Given the description of an element on the screen output the (x, y) to click on. 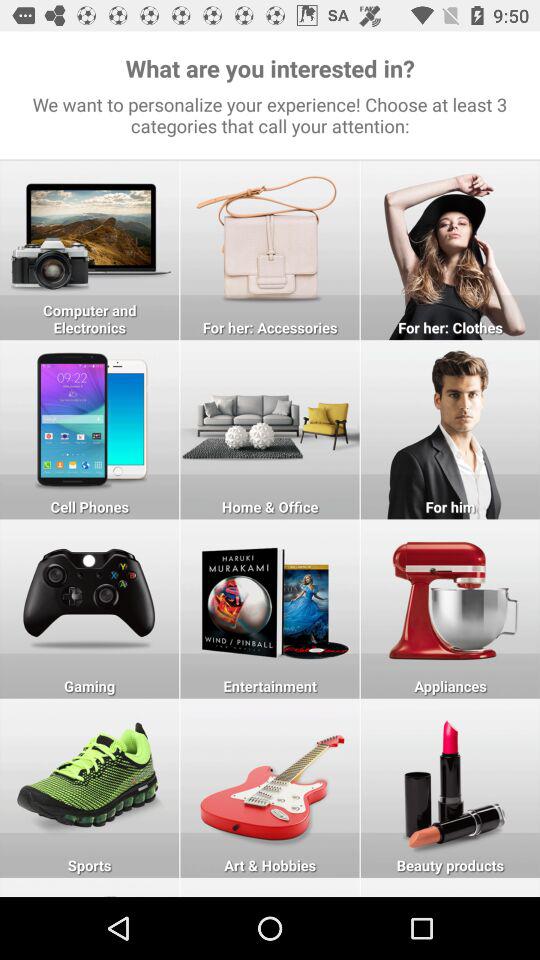
select interest (269, 429)
